Given the description of an element on the screen output the (x, y) to click on. 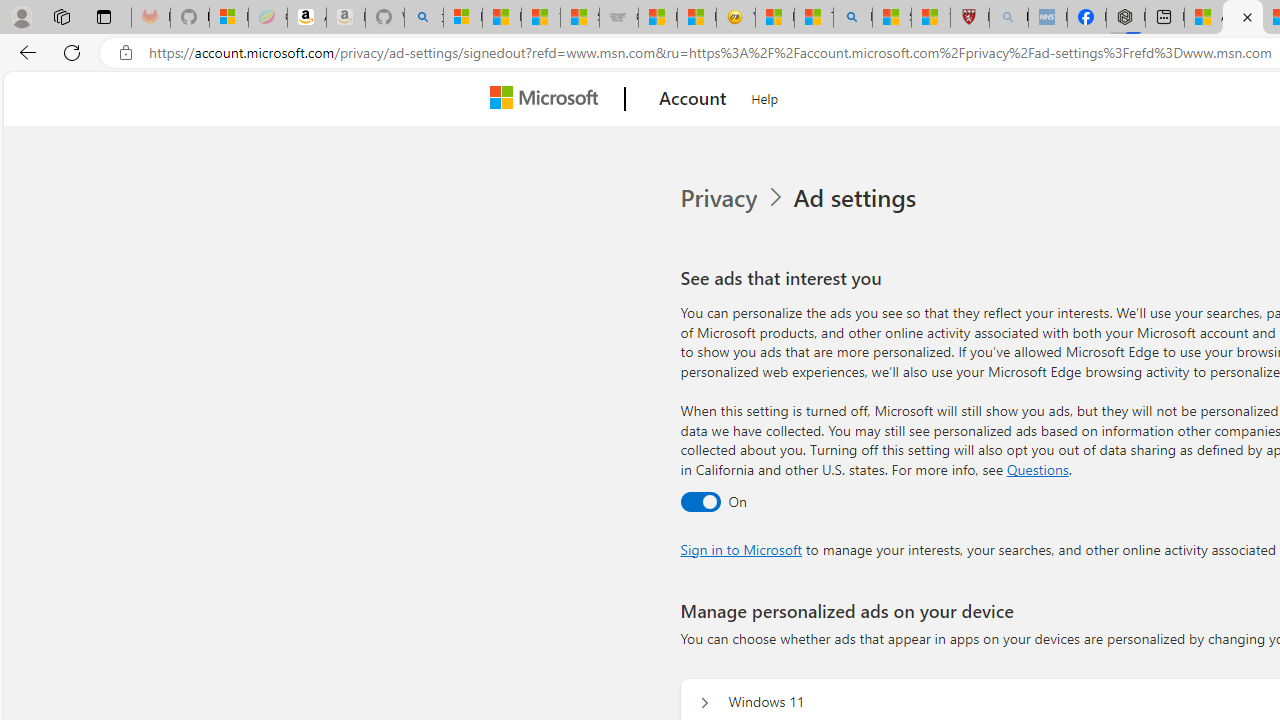
Robert H. Shmerling, MD - Harvard Health (970, 17)
12 Popular Science Lies that Must be Corrected (930, 17)
Manage personalized ads on your device Windows 11 (704, 702)
Account (692, 99)
